Given the description of an element on the screen output the (x, y) to click on. 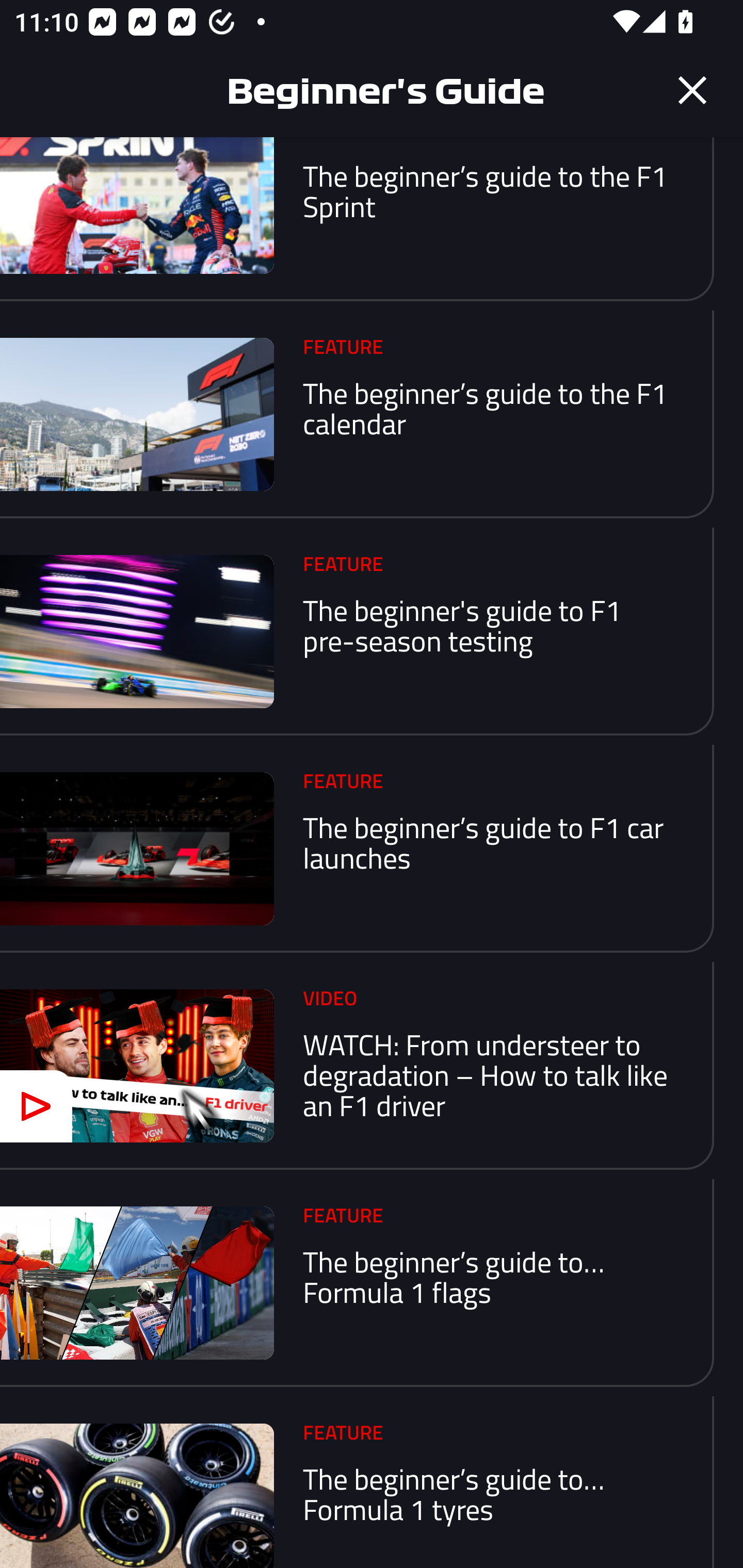
Close (692, 90)
Video - Icon (36, 1106)
